Given the description of an element on the screen output the (x, y) to click on. 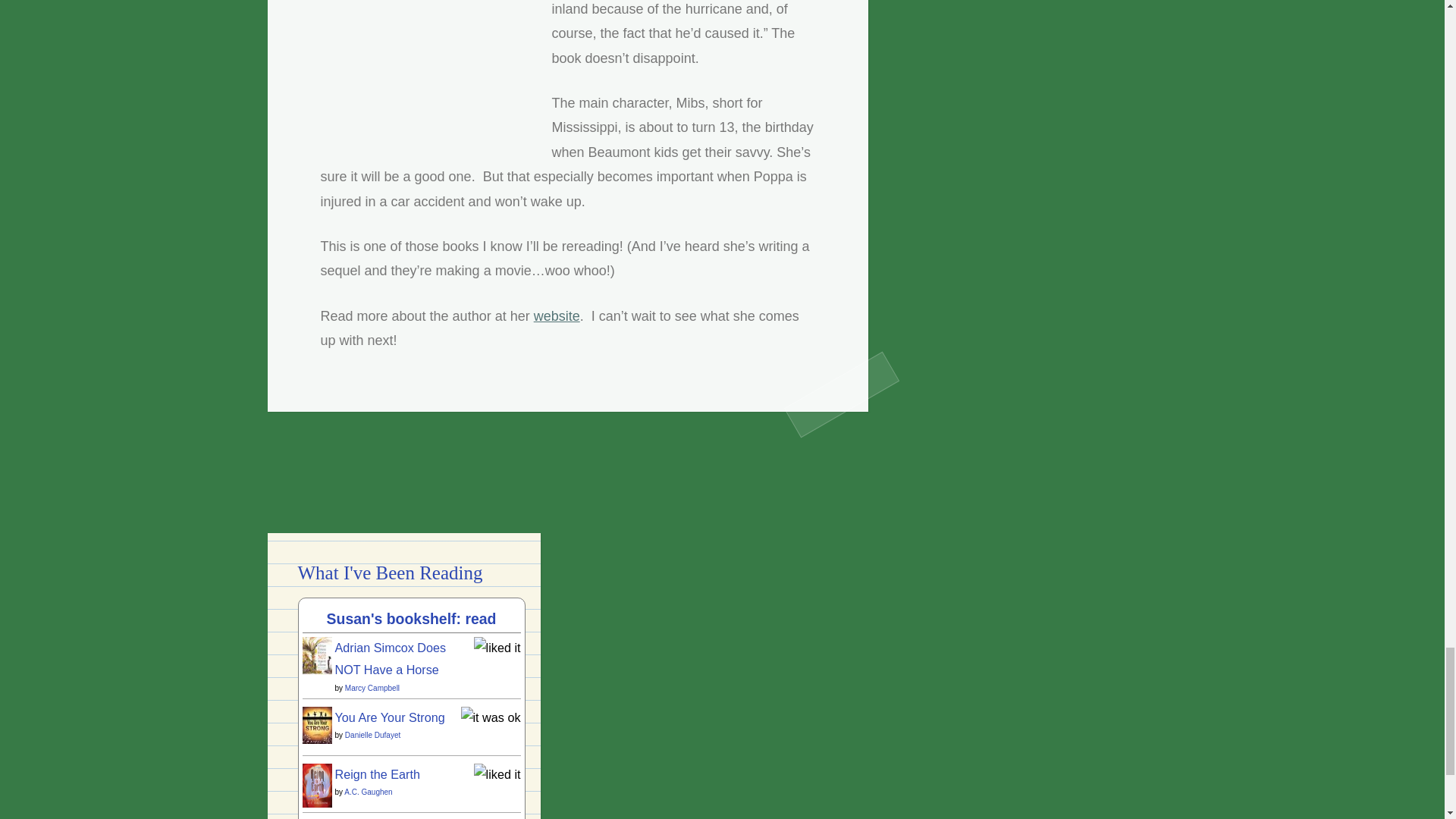
website (556, 315)
it was ok (491, 716)
You Are Your Strong (316, 739)
liked it (497, 774)
Adrian Simcox Does NOT Have a Horse (316, 670)
liked it (497, 647)
